Given the description of an element on the screen output the (x, y) to click on. 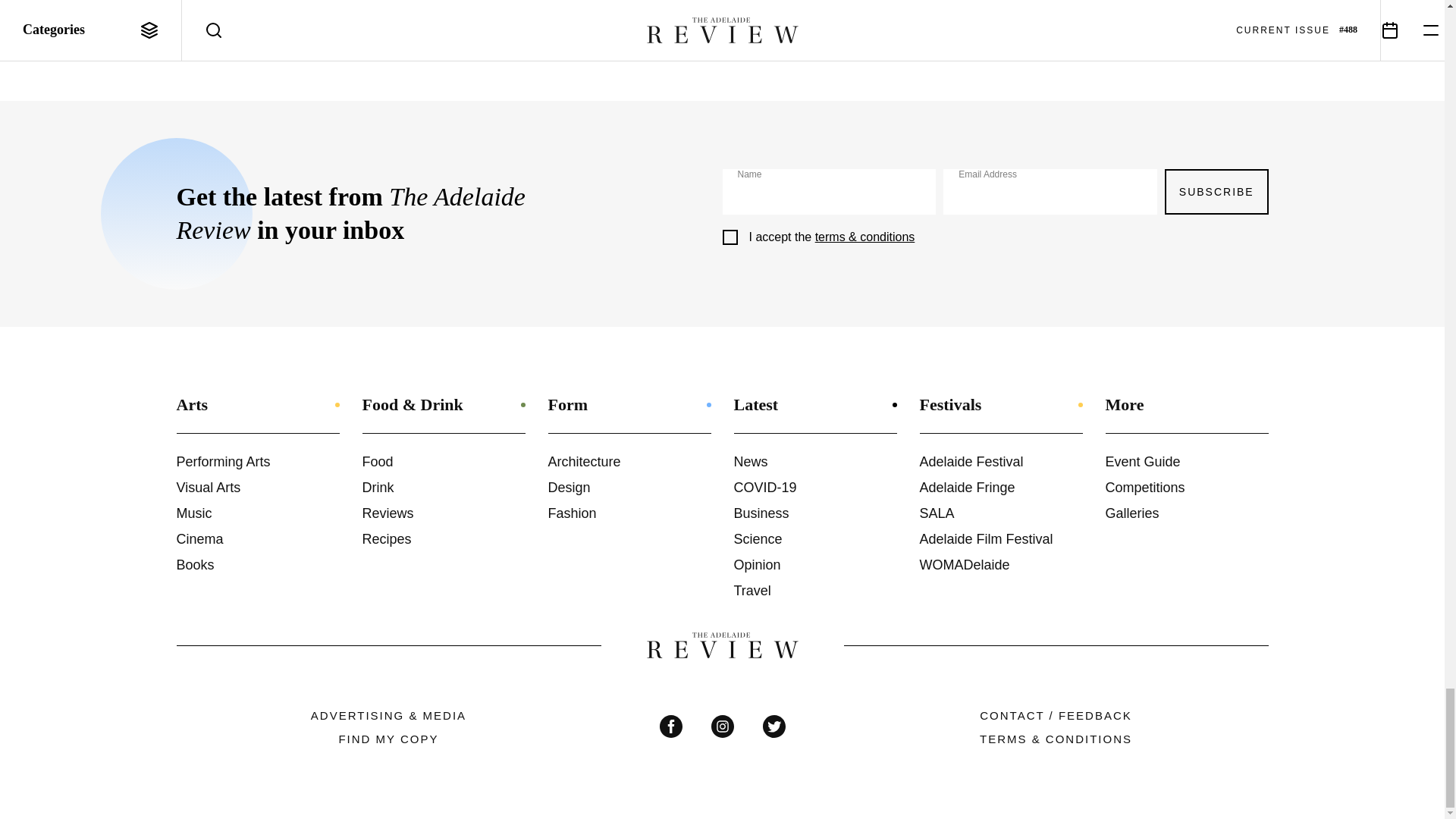
Facebook (670, 726)
Twitter (773, 726)
Instagram (721, 726)
